Given the description of an element on the screen output the (x, y) to click on. 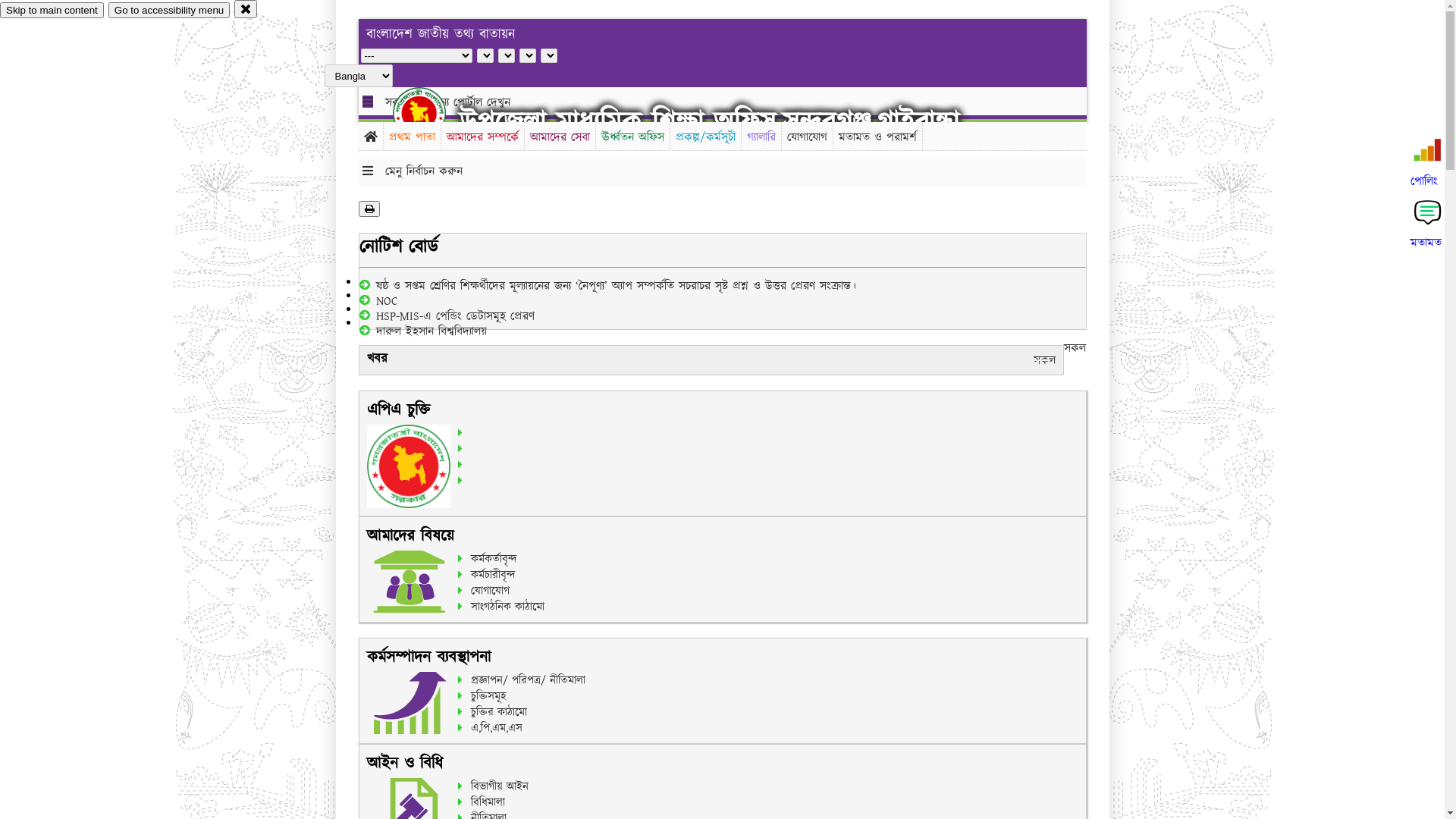

                
             Element type: hover (431, 112)
close Element type: hover (245, 9)
Go to accessibility menu Element type: text (168, 10)
Skip to main content Element type: text (51, 10)
